Given the description of an element on the screen output the (x, y) to click on. 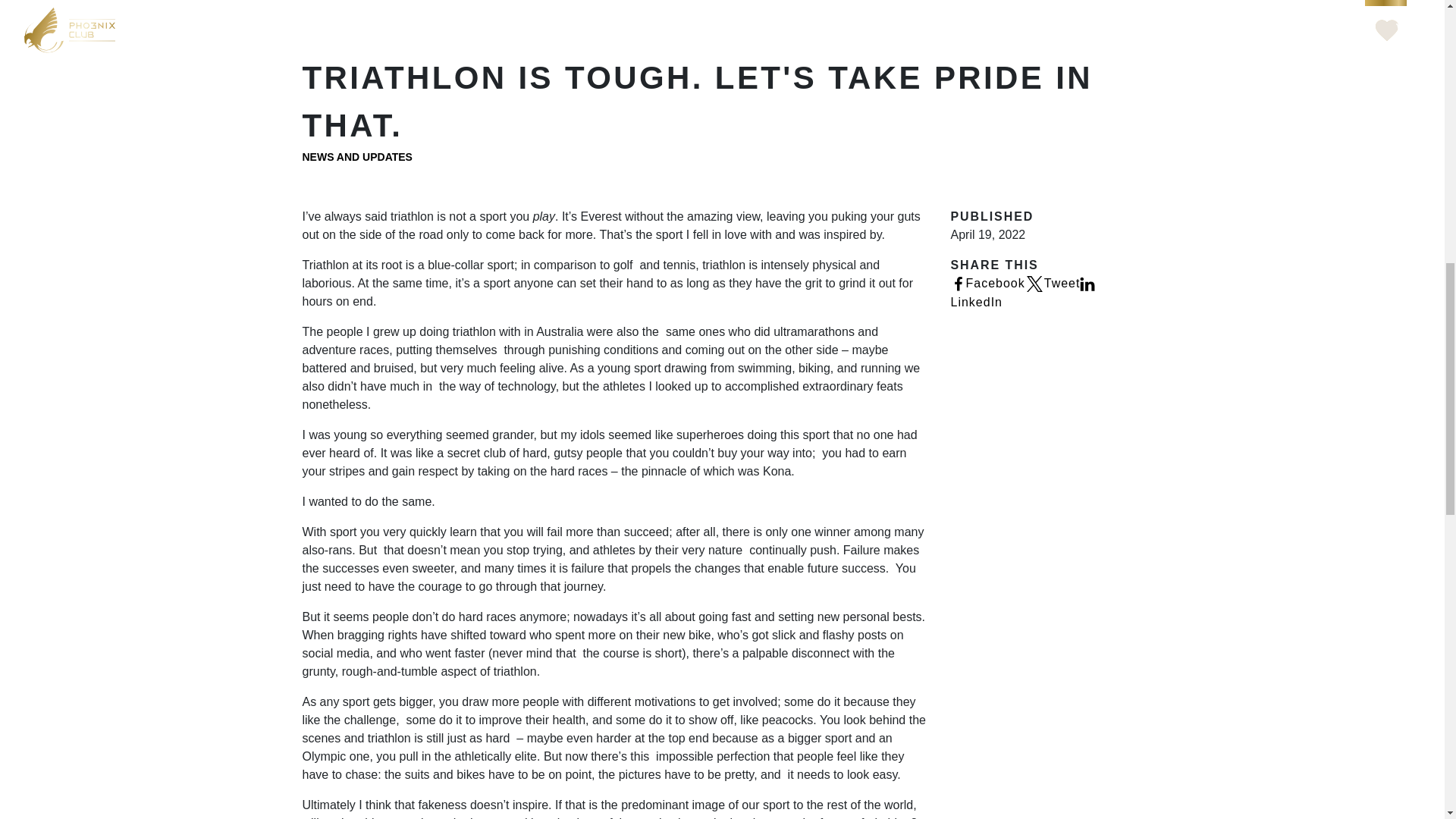
LinkedIn (1023, 292)
Tweet (1052, 282)
Facebook (987, 282)
NEWS AND UPDATES (356, 156)
